Given the description of an element on the screen output the (x, y) to click on. 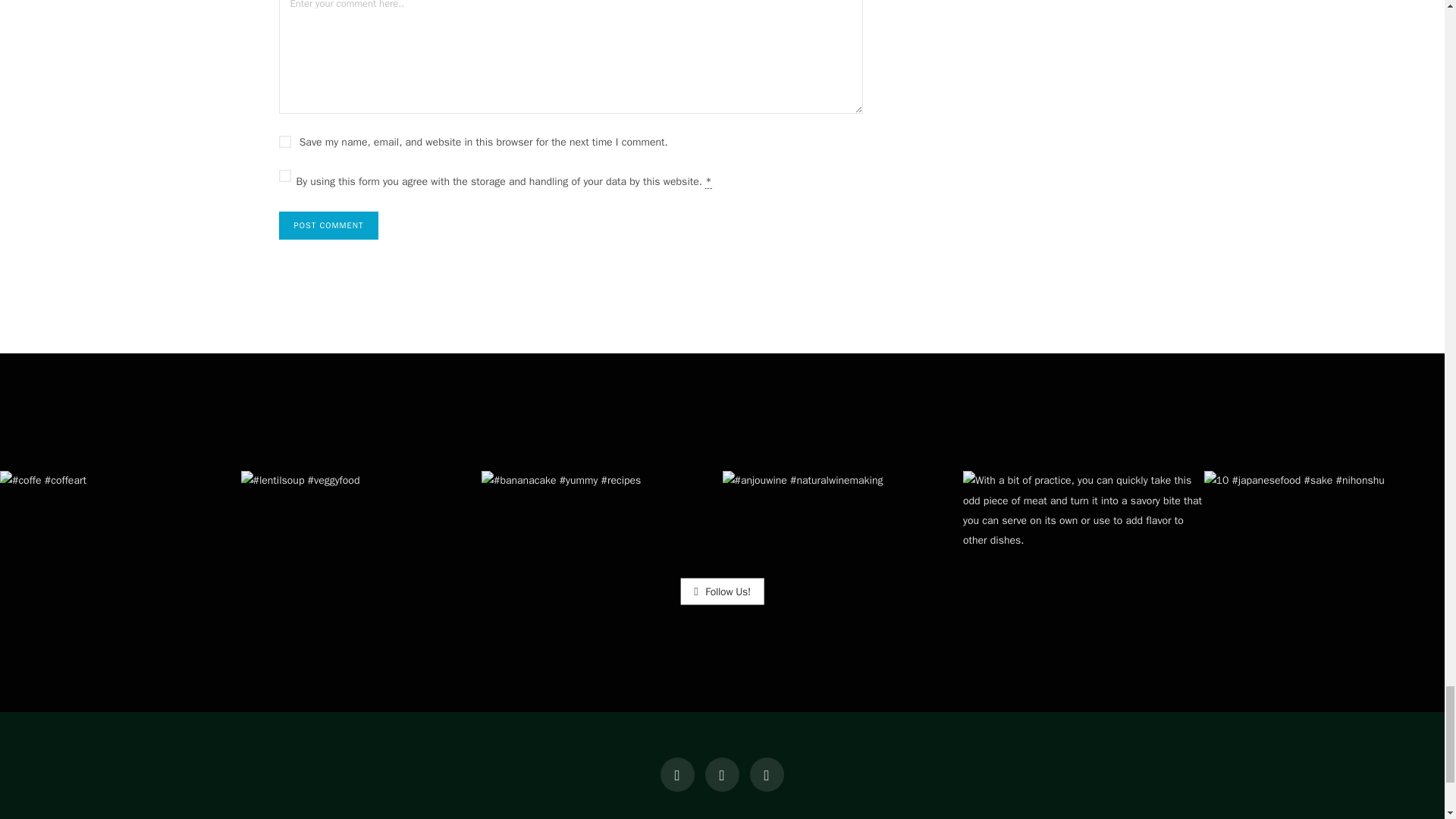
Post Comment (328, 225)
1 (285, 175)
You need to accept this checkbox. (707, 182)
yes (285, 141)
